Given the description of an element on the screen output the (x, y) to click on. 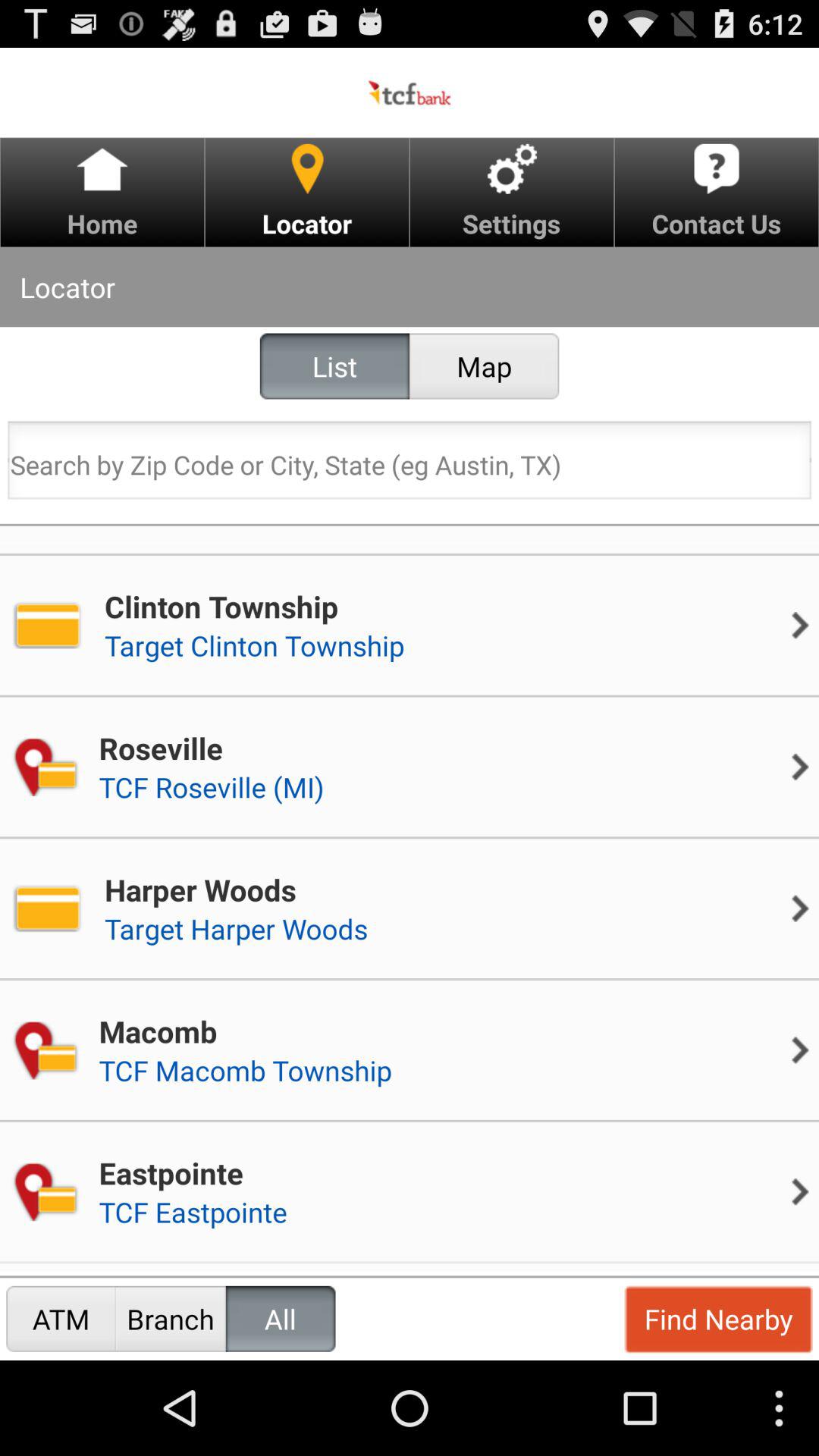
open radio button to the right of the branch icon (280, 1318)
